Given the description of an element on the screen output the (x, y) to click on. 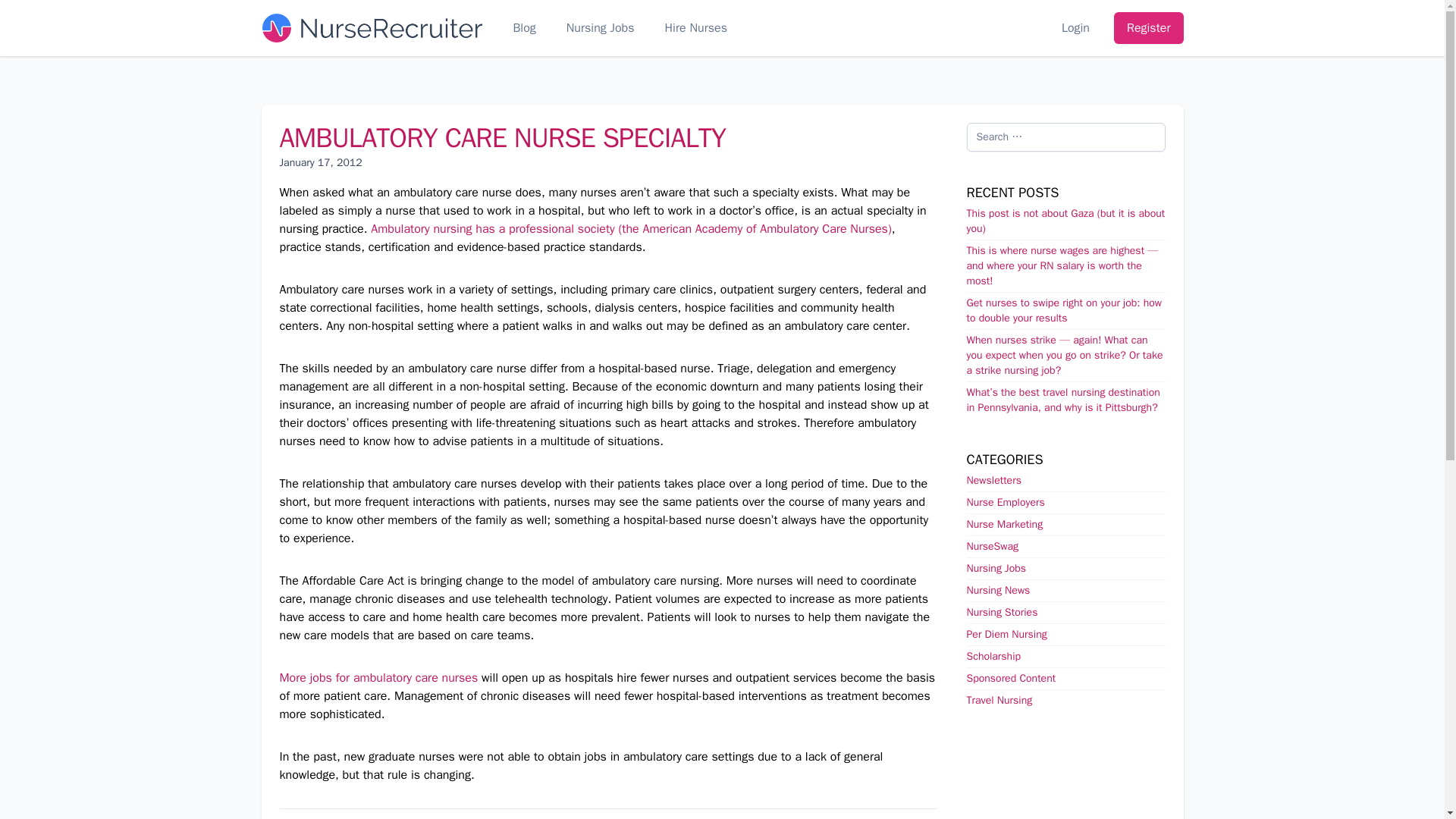
Search (18, 9)
Sponsored Content (1010, 677)
More jobs for ambulatory care nurses (378, 677)
Nursing News (997, 590)
Per Diem Nursing (1006, 634)
Blog (523, 27)
Hire Nurses (695, 27)
NurseSwag (991, 545)
Nursing Jobs (600, 27)
Login (1075, 27)
Newsletters (993, 480)
Nursing Stories (1001, 612)
Scholarship (993, 656)
Nursing Jobs (996, 567)
